Given the description of an element on the screen output the (x, y) to click on. 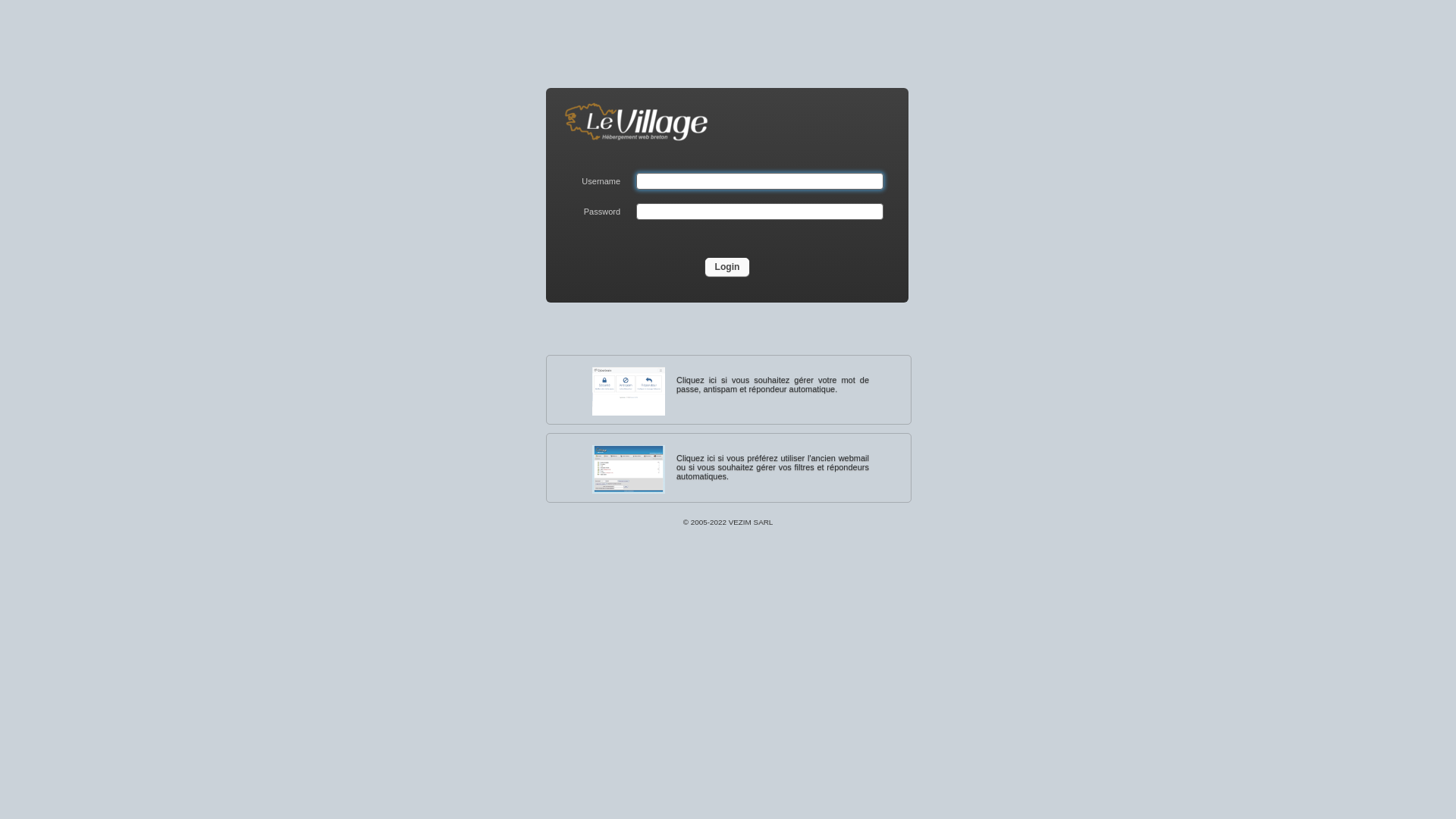
Login Element type: text (727, 266)
